Given the description of an element on the screen output the (x, y) to click on. 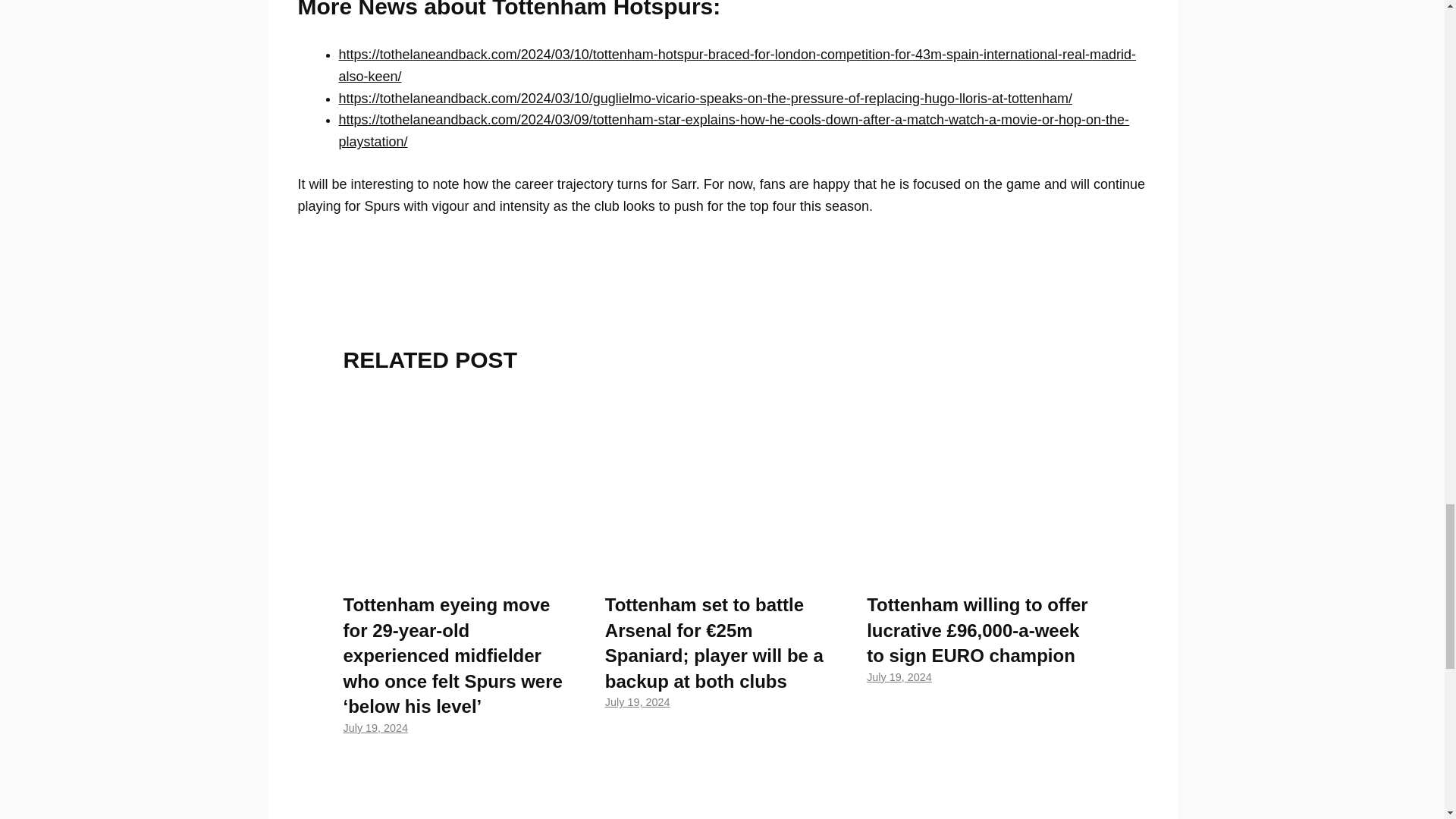
7:00 pm (637, 702)
6:00 pm (898, 676)
8:00 pm (374, 727)
